Given the description of an element on the screen output the (x, y) to click on. 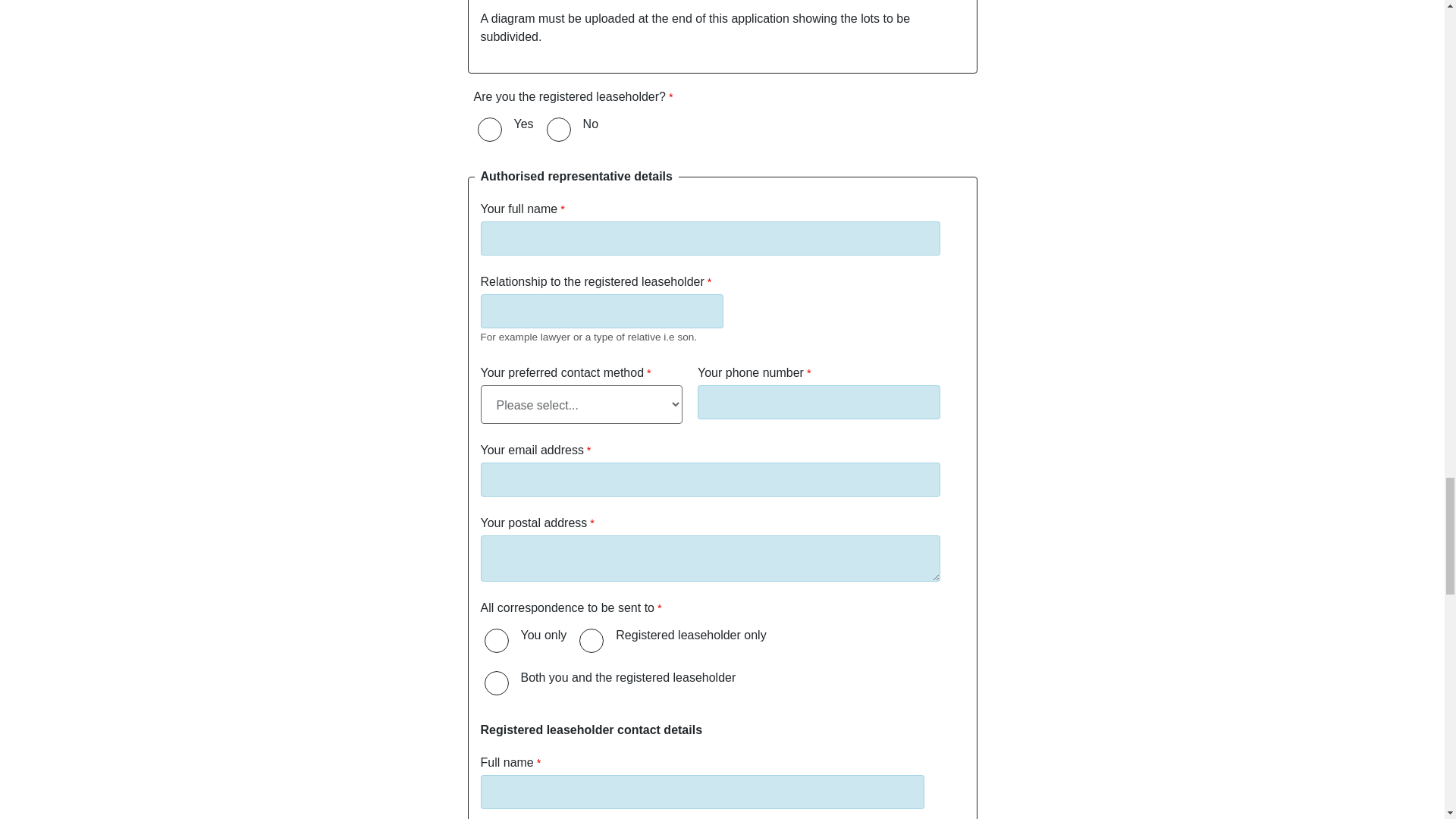
Your email address (710, 479)
Your phone number (818, 401)
Your postal address (710, 558)
Relationship to the registered leaseholder (601, 311)
Your full name (710, 238)
Full name (702, 791)
Your preferred contact method (581, 404)
